Given the description of an element on the screen output the (x, y) to click on. 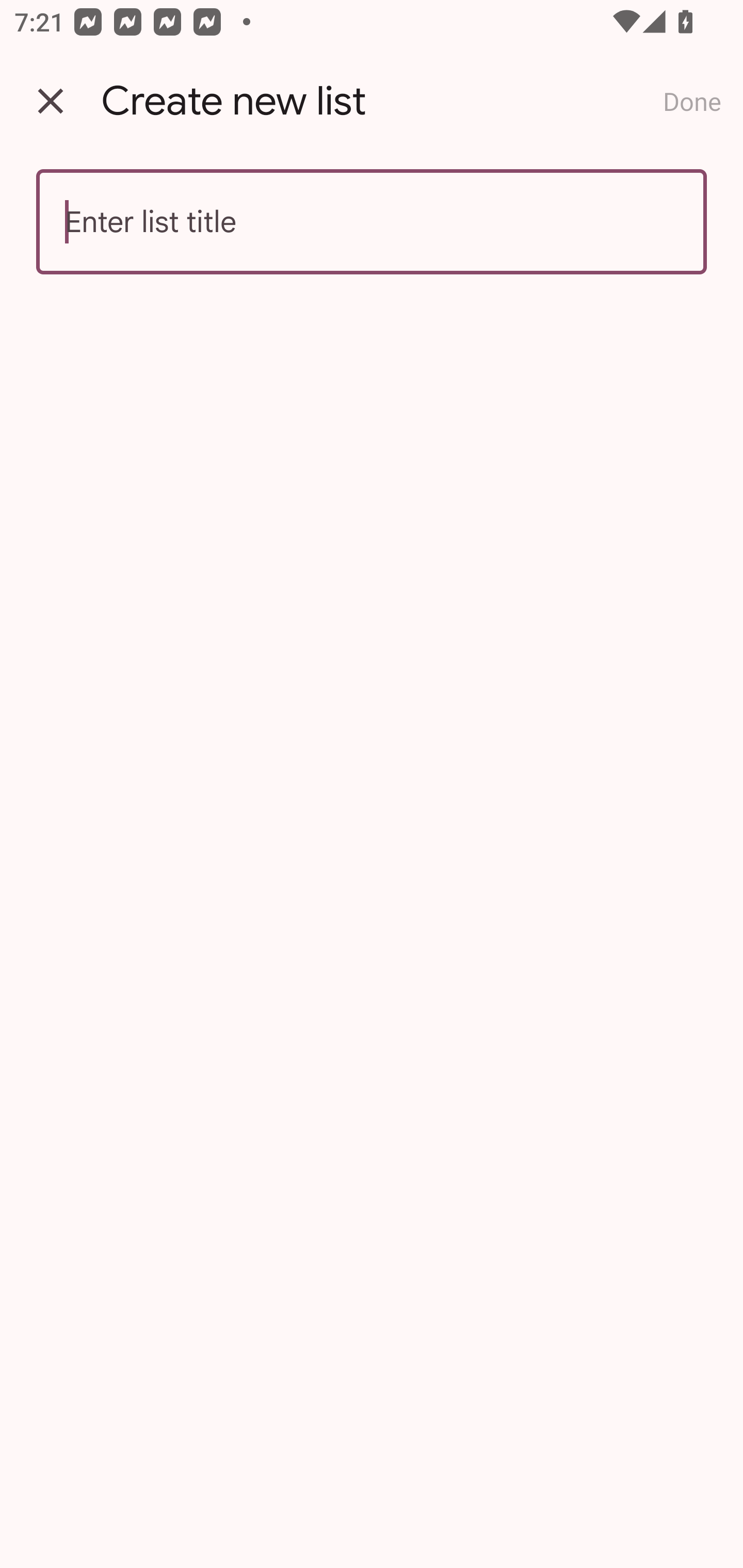
Back (50, 101)
Done (692, 101)
Enter list title (371, 221)
